Given the description of an element on the screen output the (x, y) to click on. 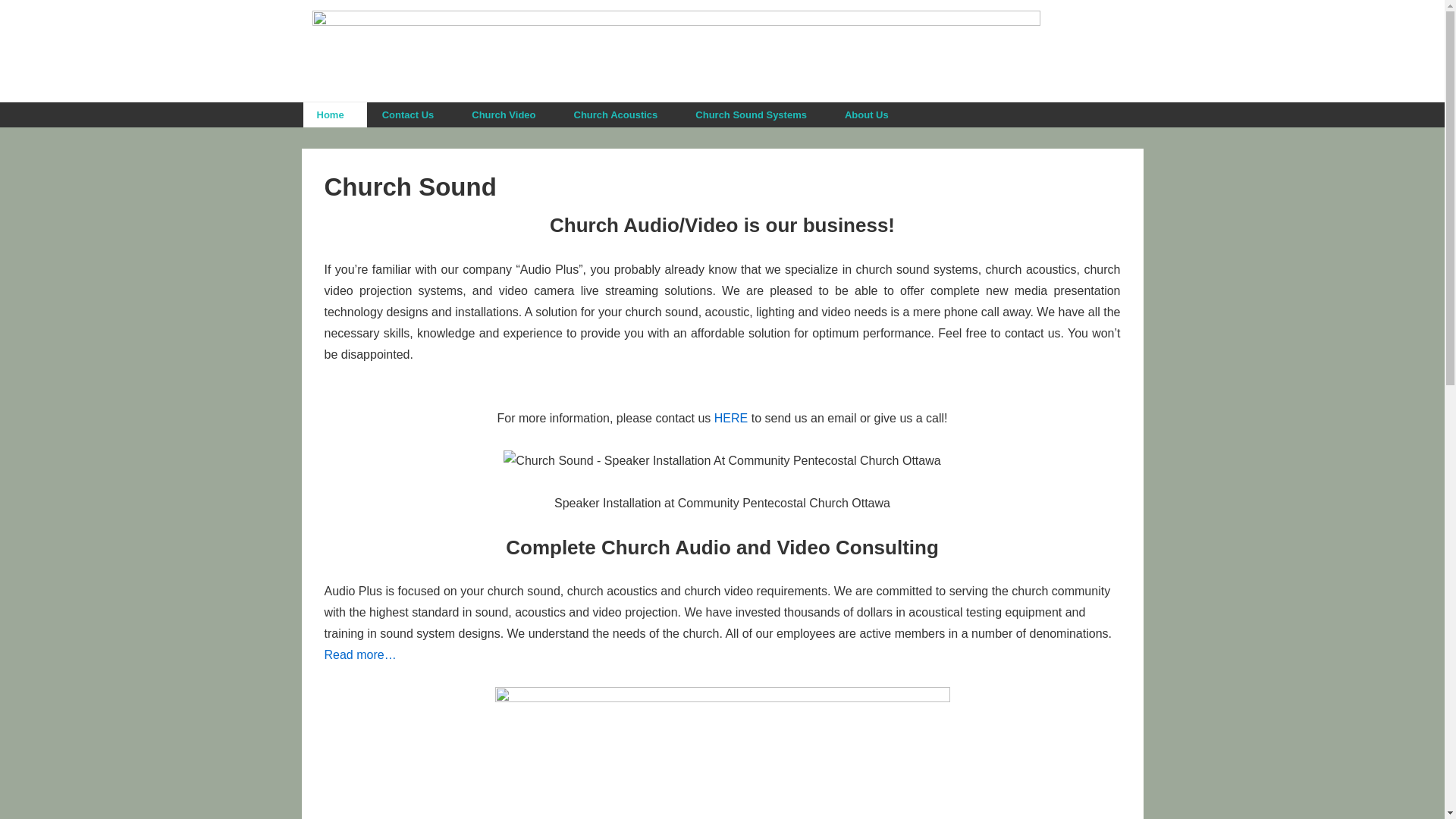
Home Element type: text (335, 114)
Church Video Element type: text (508, 114)
Church Acoustics Element type: text (620, 114)
Church Sound Systems Element type: text (755, 114)
HERE Element type: text (730, 417)
About Us Element type: text (871, 114)
Contact Us Element type: text (412, 114)
